Given the description of an element on the screen output the (x, y) to click on. 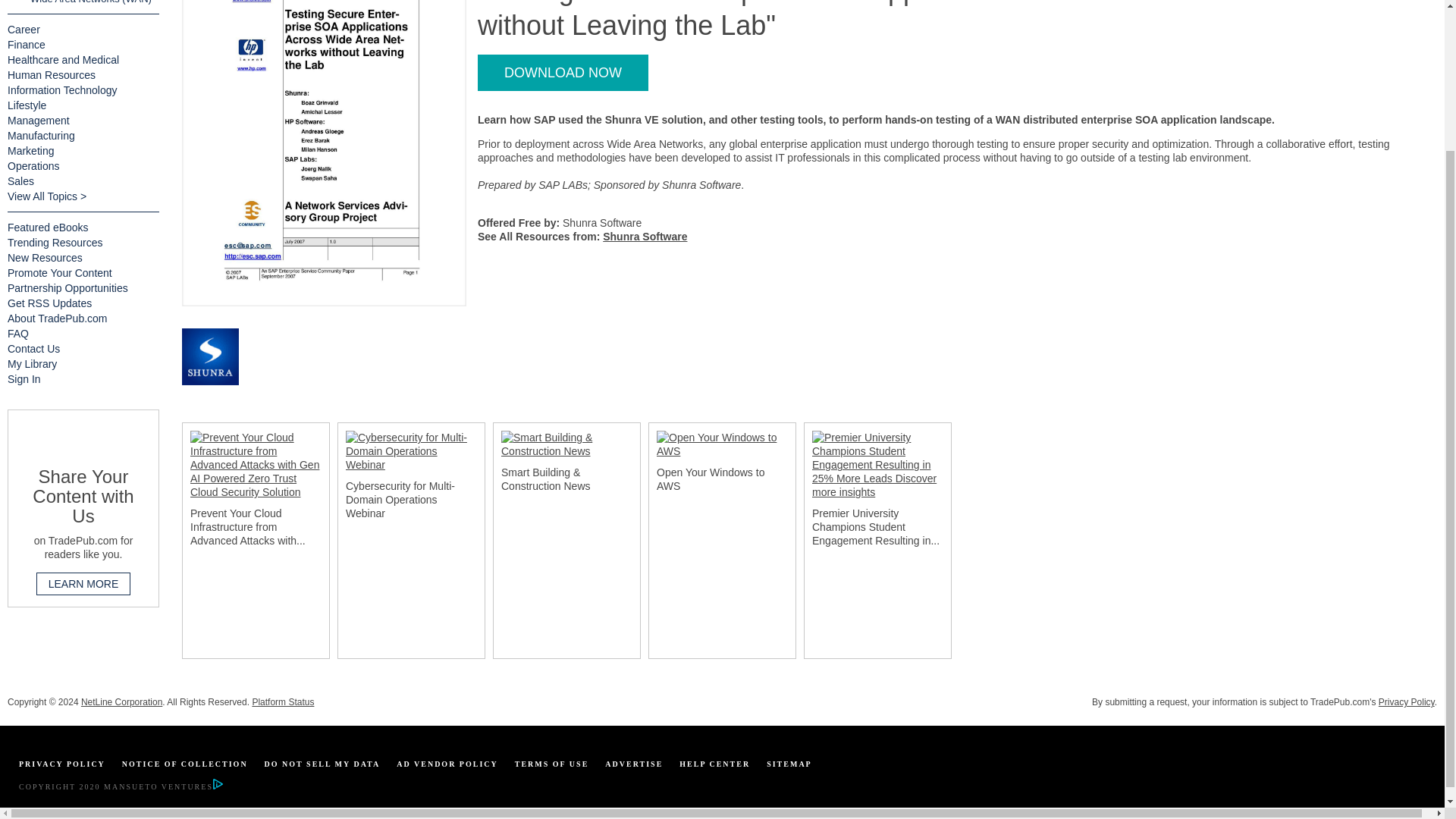
Get more information about terms of use on Inc.com (552, 764)
Get more information about do not sell my data on Inc.com (322, 764)
Get more information about Privacy policy on Inc.com (61, 764)
Get more information about Advertise on Inc.com (633, 764)
Get more information about Ad vendor policy on Inc.com (446, 764)
Get more information about sitemap on Inc.com (789, 764)
Get more information about Notice of collection on Inc.com (184, 764)
Read more about your Ad Choices (217, 786)
Get more information about help Center on Inc.com (714, 764)
